Given the description of an element on the screen output the (x, y) to click on. 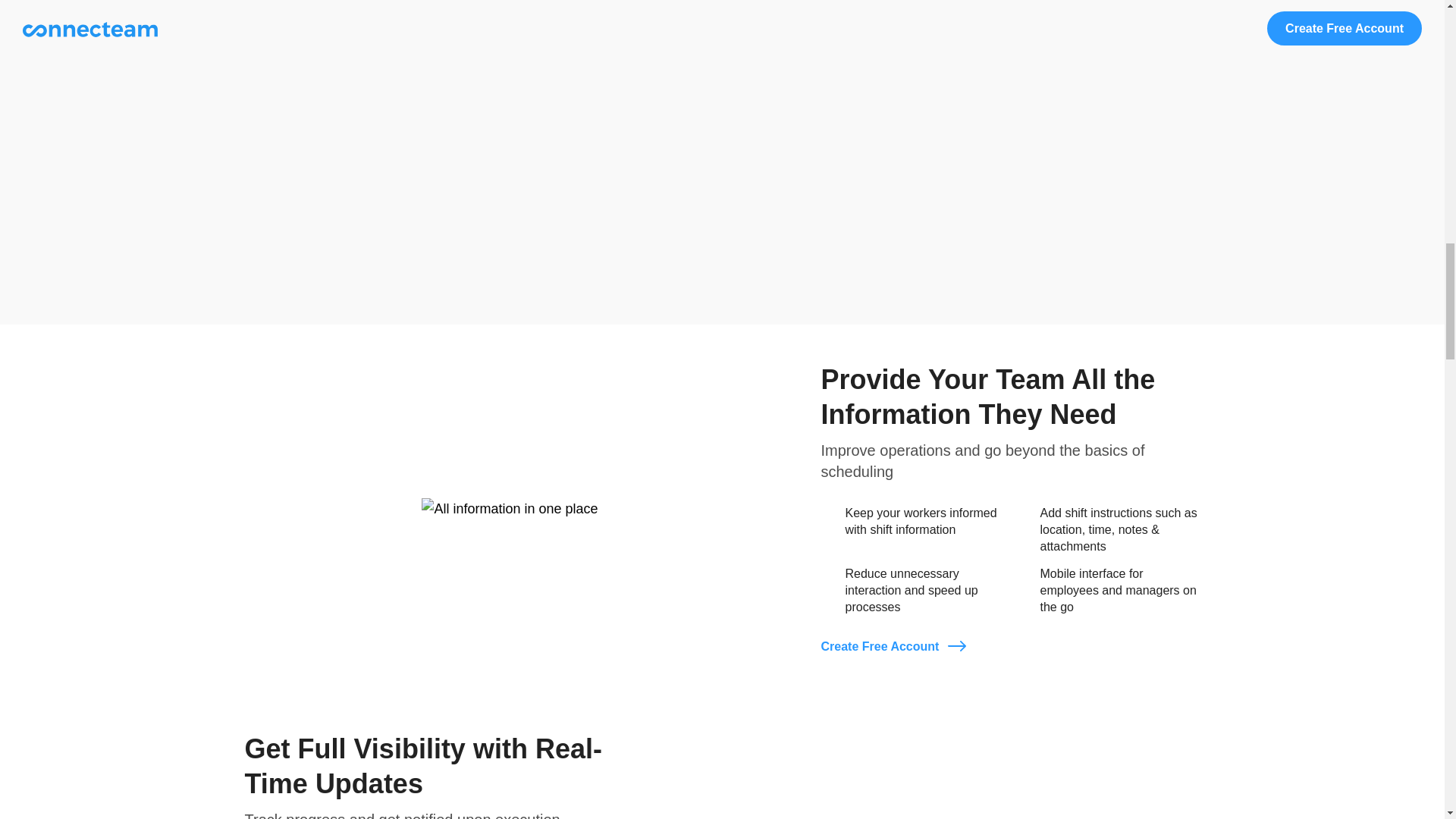
Create Free Account (893, 646)
